Given the description of an element on the screen output the (x, y) to click on. 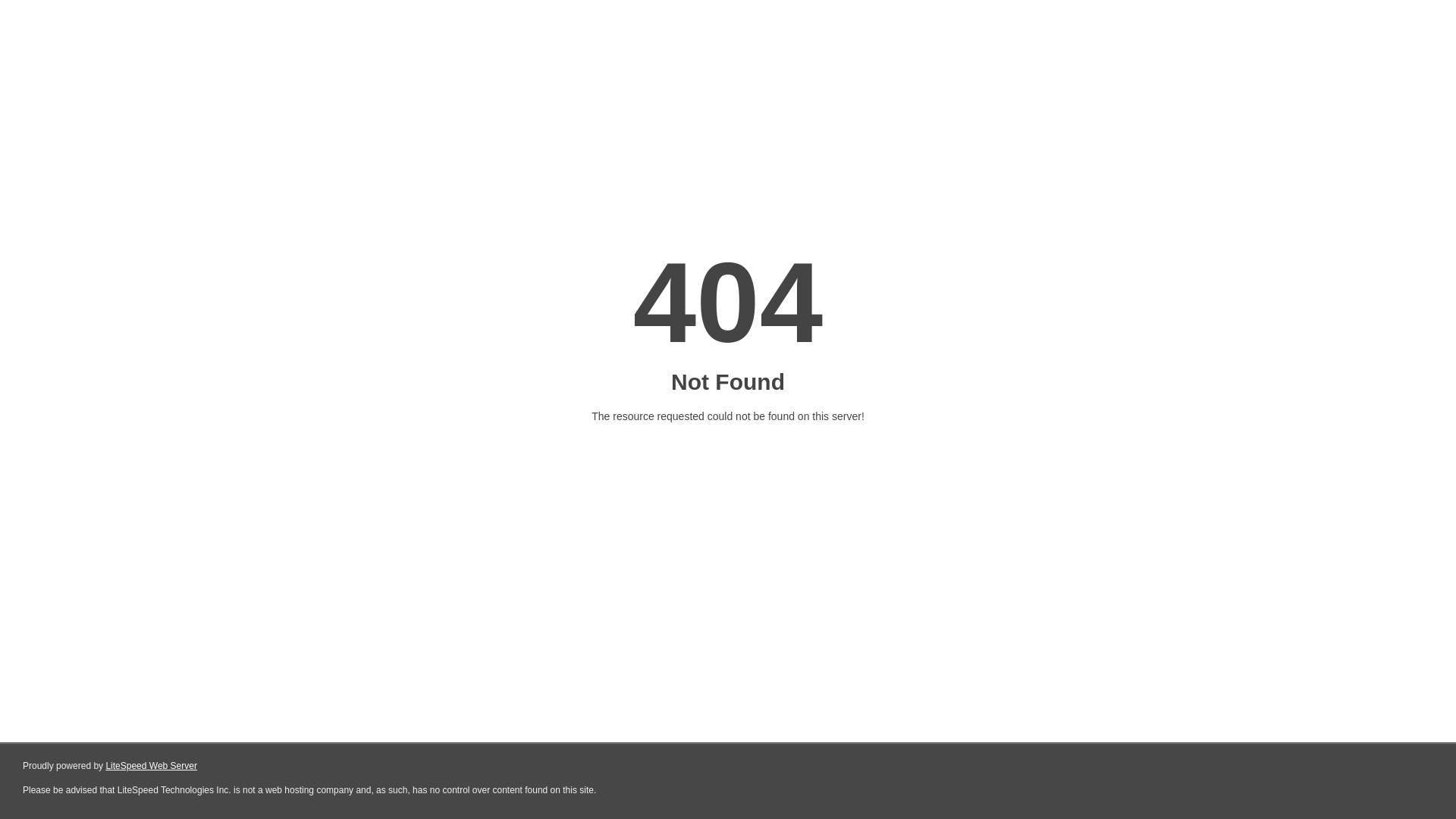
LiteSpeed Web Server Element type: text (151, 765)
